Given the description of an element on the screen output the (x, y) to click on. 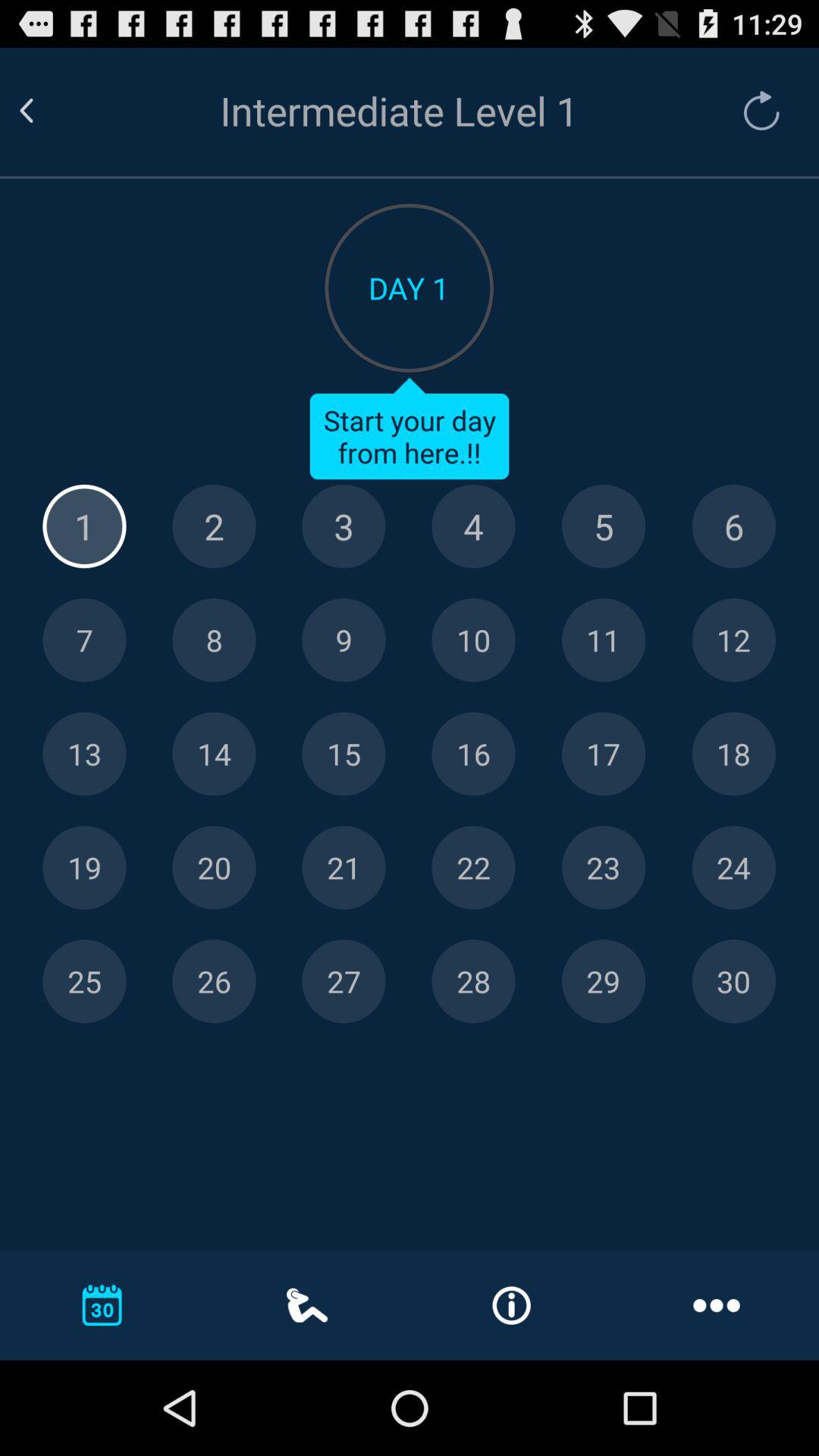
click on date 4 (473, 526)
